Given the description of an element on the screen output the (x, y) to click on. 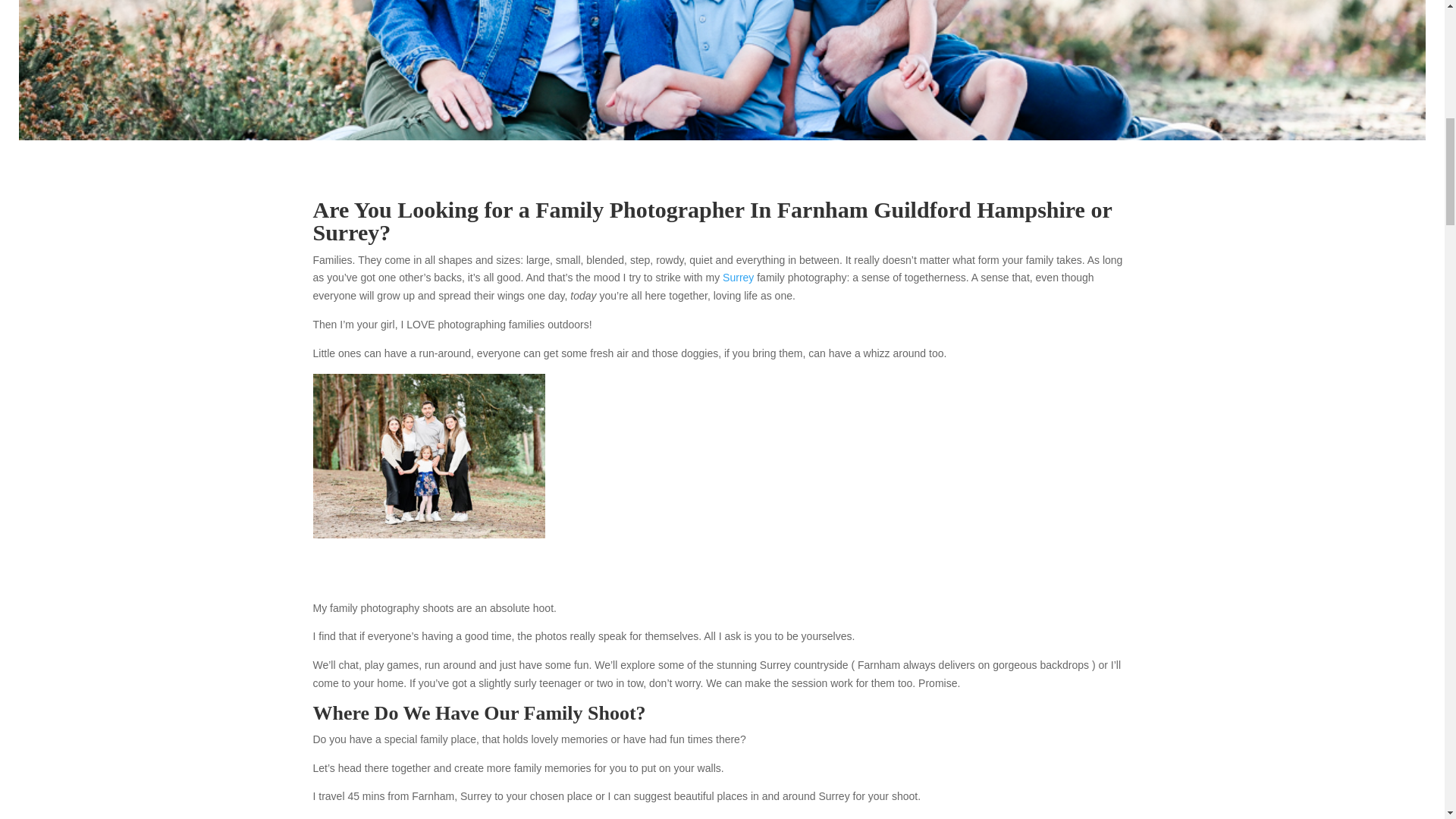
Surrey (738, 277)
